Given the description of an element on the screen output the (x, y) to click on. 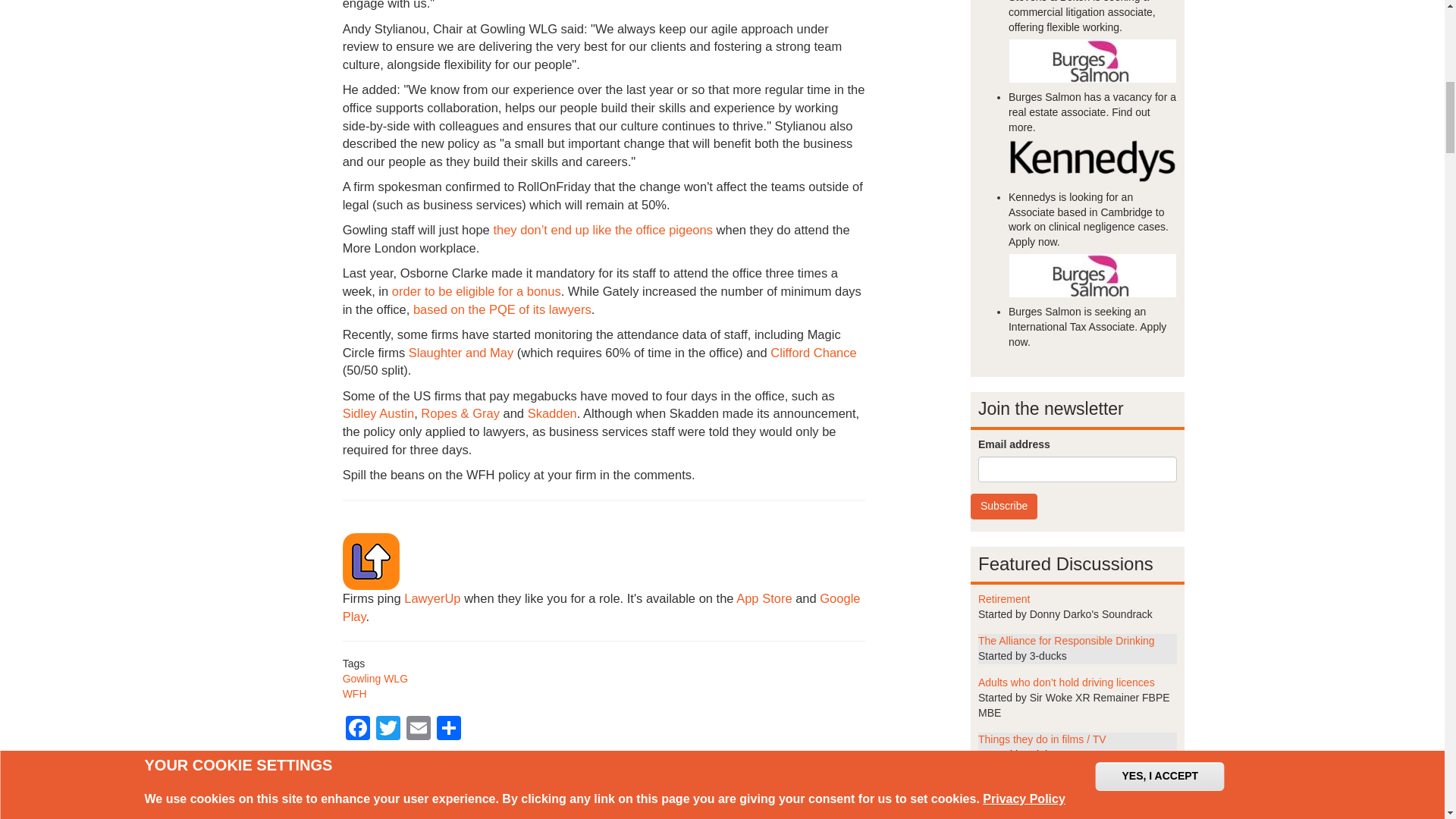
based on the PQE of its lawyers (502, 309)
Slaughter and May (461, 352)
order to be eligible for a bonus (475, 291)
